Given the description of an element on the screen output the (x, y) to click on. 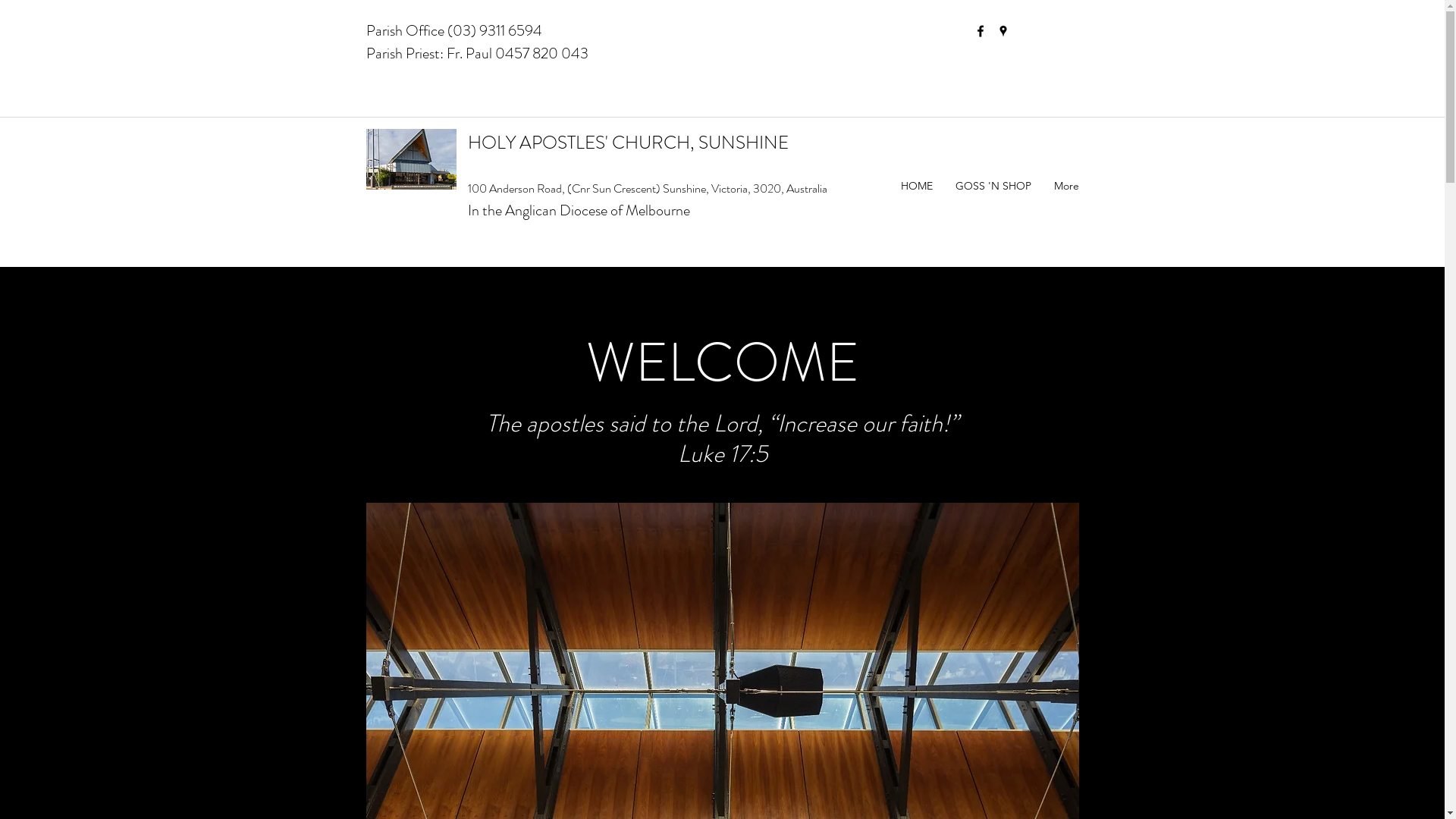
GOSS 'N SHOP Element type: text (992, 185)
HOME Element type: text (915, 185)
In the Anglican Diocese of Melbourne Element type: text (578, 210)
